Given the description of an element on the screen output the (x, y) to click on. 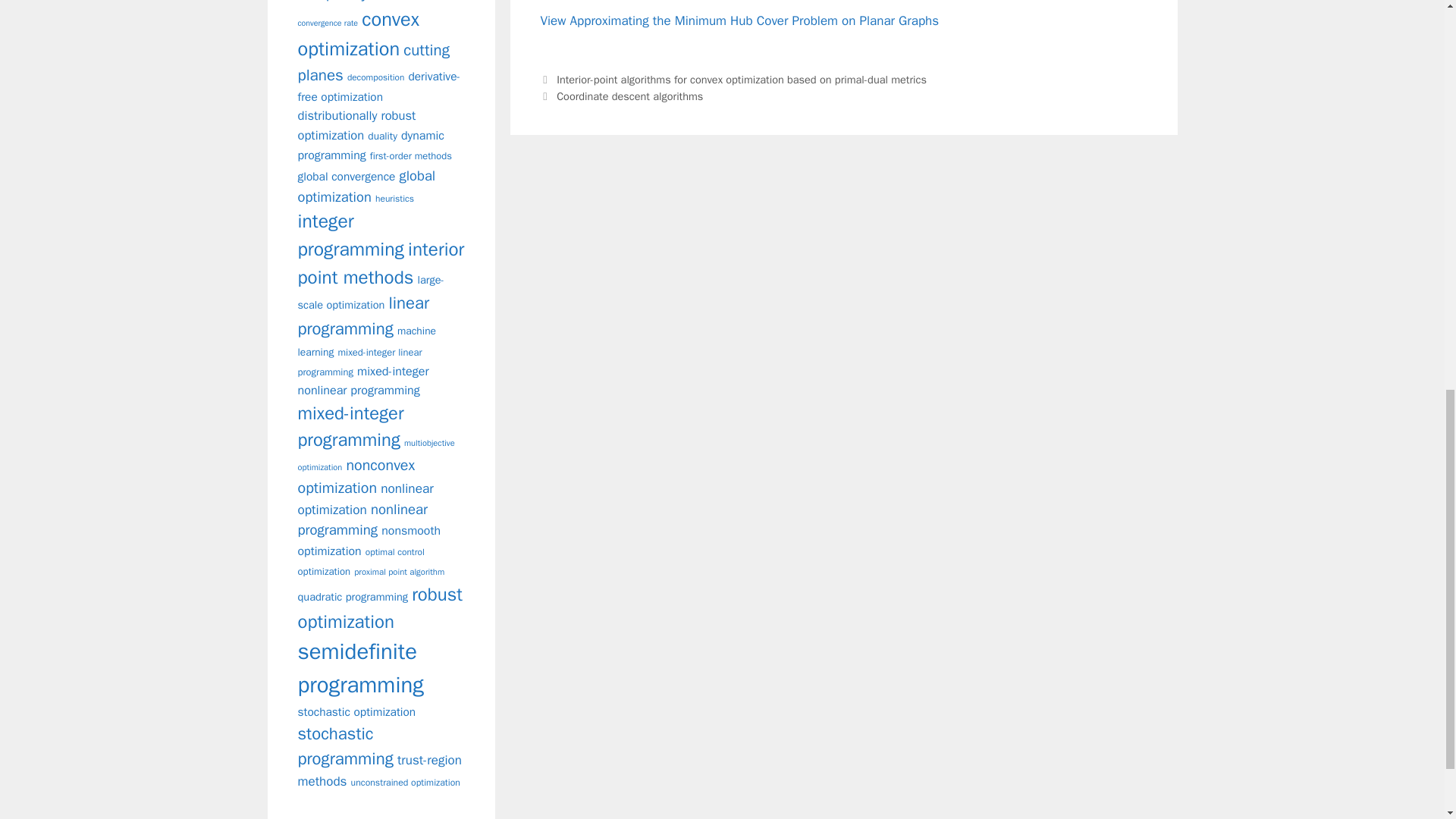
Previous (733, 79)
Coordinate descent algorithms (629, 96)
Next (621, 96)
